Given the description of an element on the screen output the (x, y) to click on. 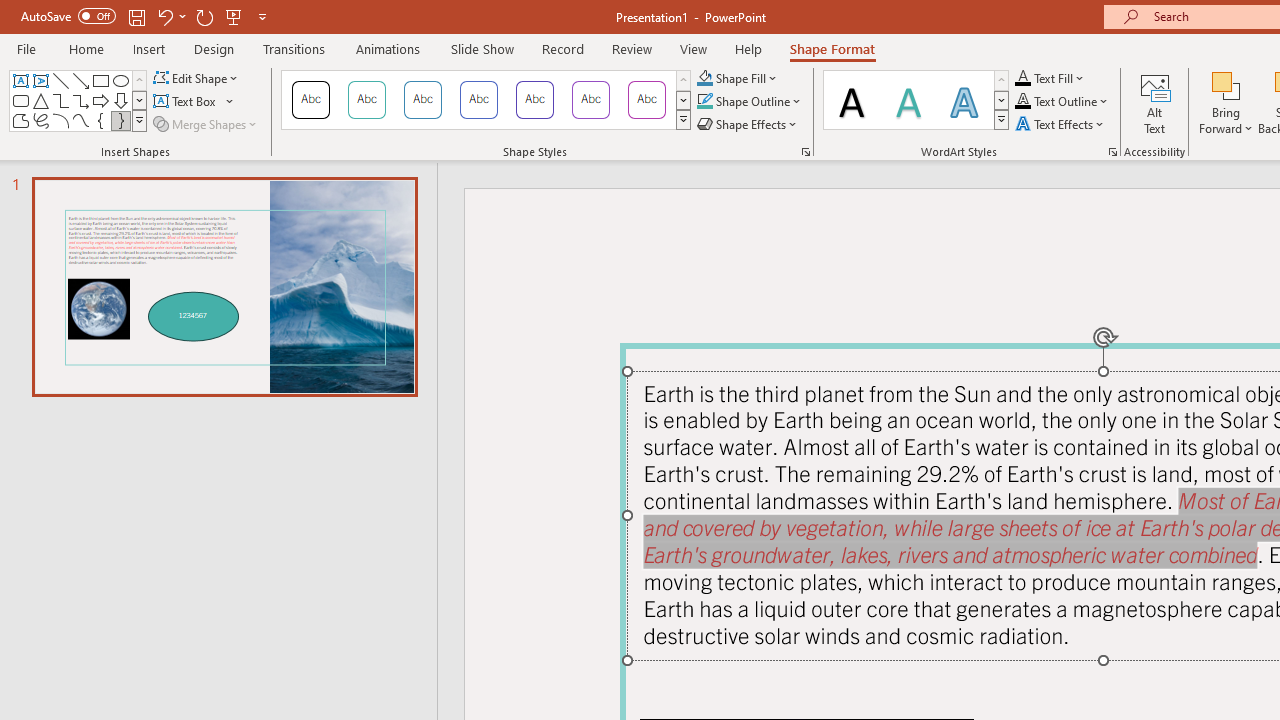
Text Effects (1061, 124)
Arrow: Down (120, 100)
Row up (1001, 79)
AutomationID: ShapeStylesGallery (486, 99)
Arrow: Right (100, 100)
Text Box (194, 101)
System (10, 11)
Slide Show (481, 48)
Save (136, 15)
Vertical Text Box (40, 80)
Quick Access Toolbar (145, 16)
Transitions (294, 48)
Text Box (20, 80)
Undo (170, 15)
Home (86, 48)
